Given the description of an element on the screen output the (x, y) to click on. 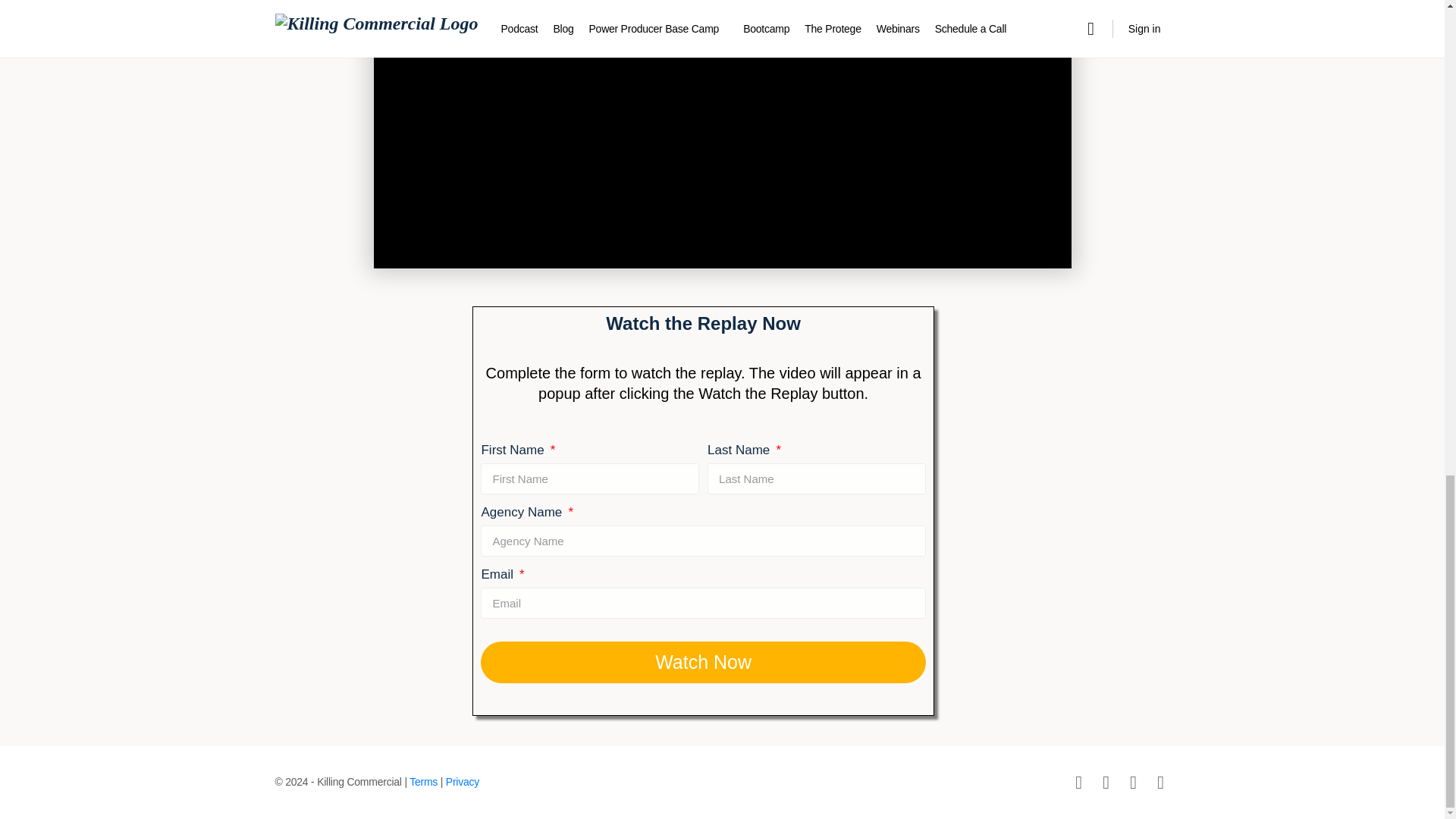
Terms (423, 781)
Privacy (462, 781)
Watch Now (702, 662)
